Given the description of an element on the screen output the (x, y) to click on. 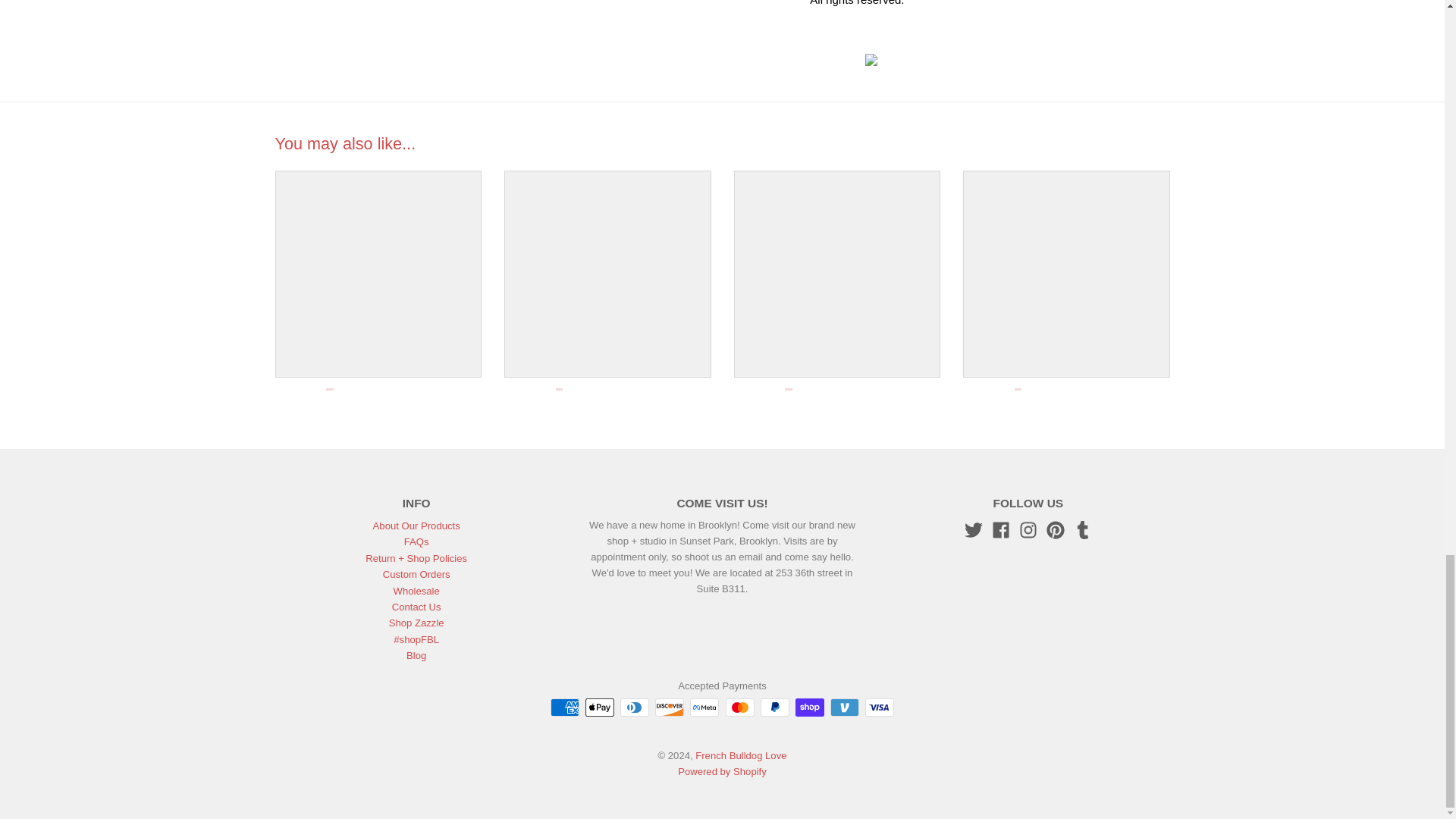
Instagram - French Bulldog Love (1027, 529)
Tumblr - French Bulldog Love (1083, 529)
Pinterest - French Bulldog Love (1055, 529)
Twitter - French Bulldog Love (972, 529)
Facebook - French Bulldog Love (1000, 529)
